Given the description of an element on the screen output the (x, y) to click on. 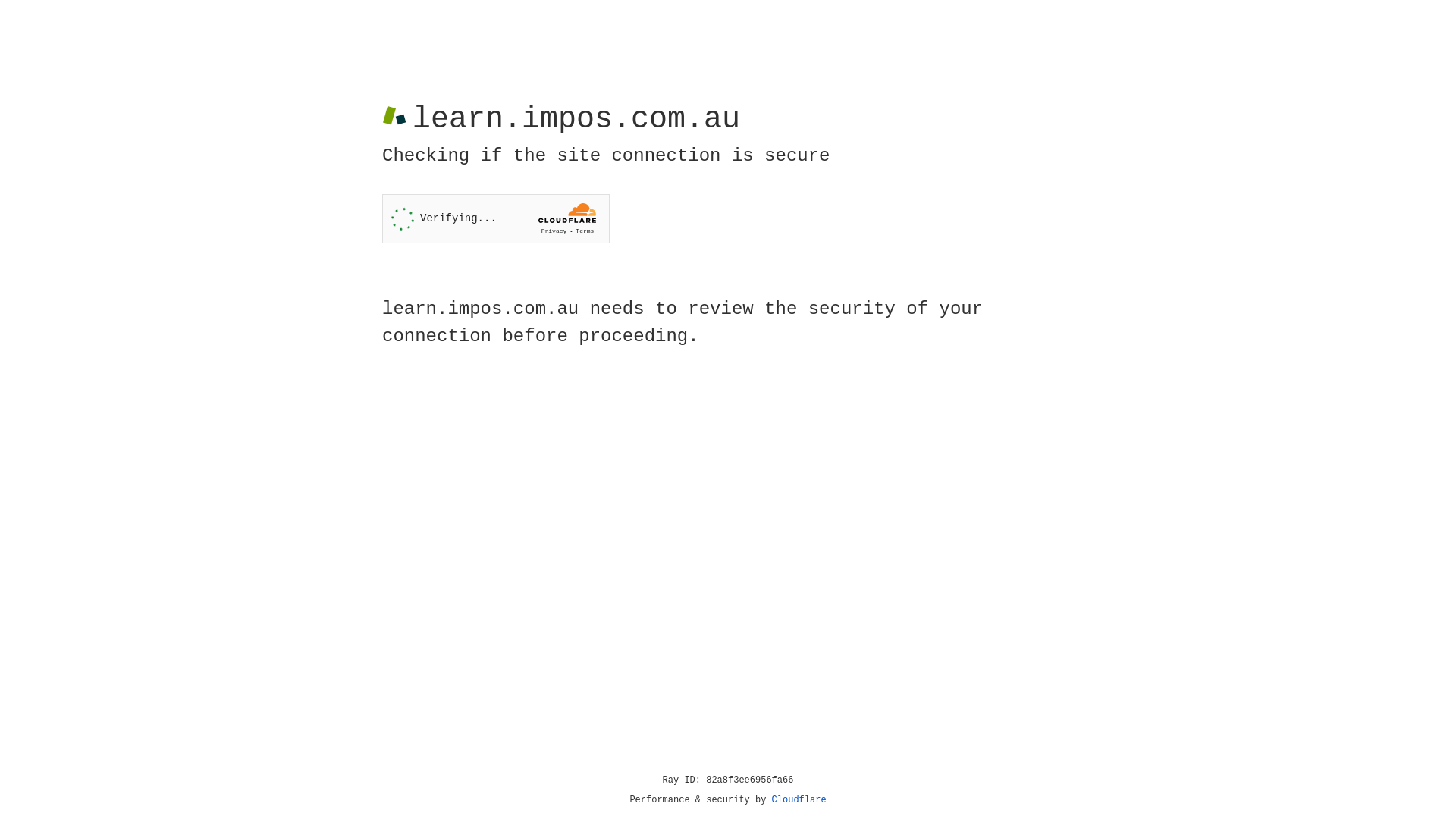
Widget containing a Cloudflare security challenge Element type: hover (495, 218)
Cloudflare Element type: text (798, 799)
